Given the description of an element on the screen output the (x, y) to click on. 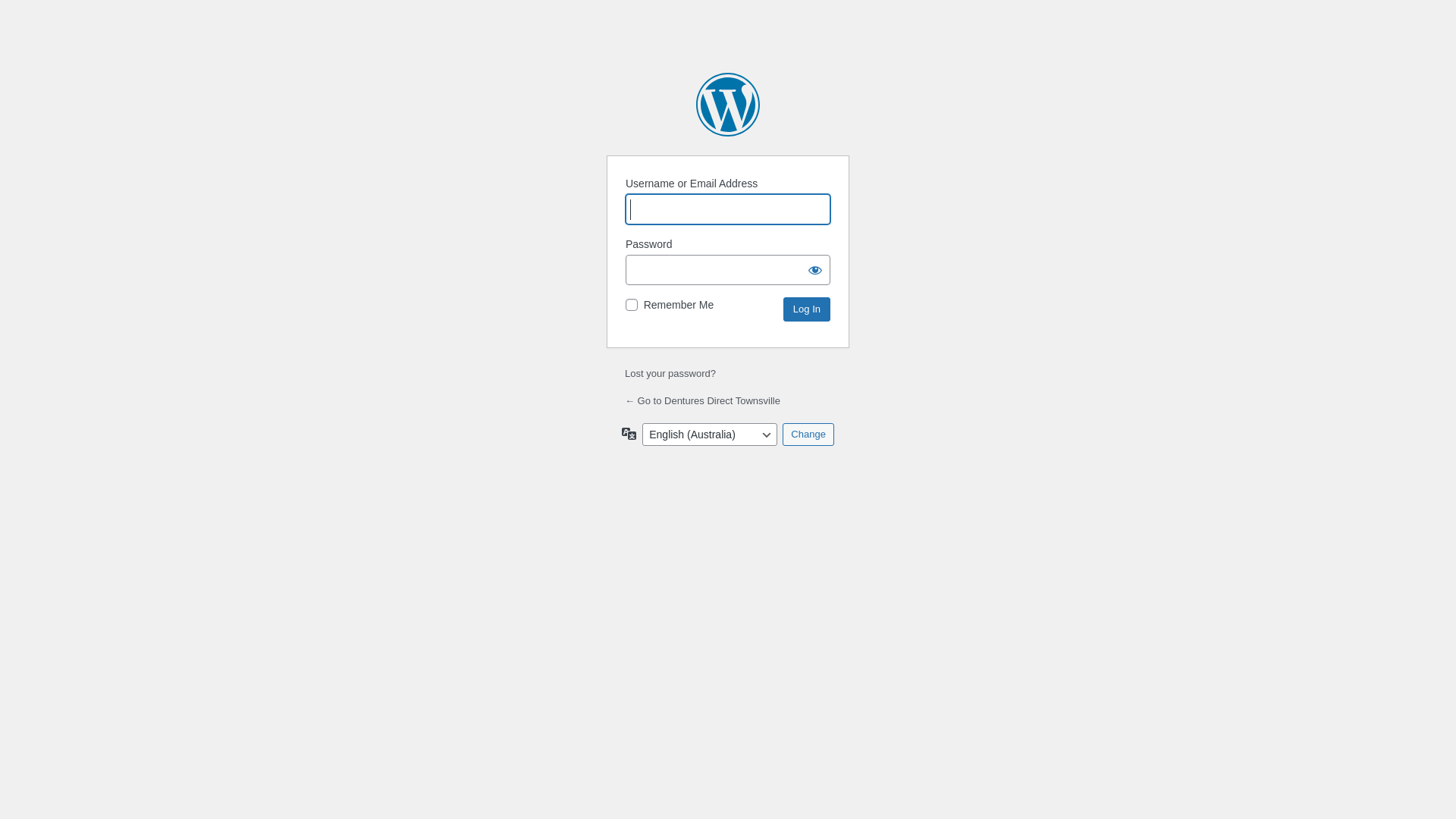
Lost your password? Element type: text (669, 373)
Powered by WordPress Element type: text (727, 104)
Log In Element type: text (806, 309)
Change Element type: text (808, 434)
